Given the description of an element on the screen output the (x, y) to click on. 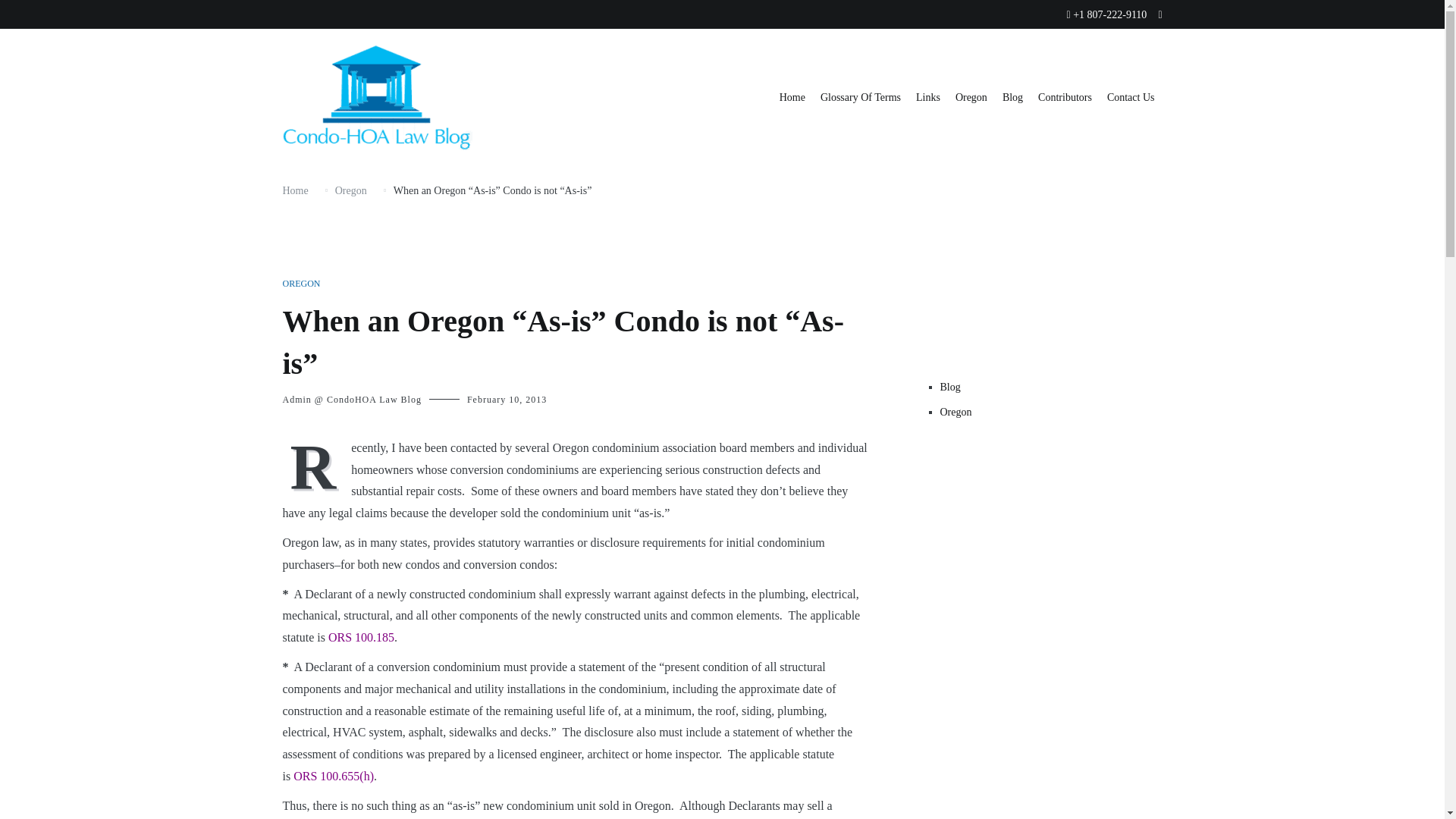
Home (294, 190)
Contributors (1065, 98)
Links (927, 98)
Oregon (971, 98)
Blog (1013, 98)
Contact Us (1130, 98)
Glossary Of Terms (861, 98)
Oregon (350, 190)
Oregon (1050, 412)
OREGON (301, 283)
Home (791, 98)
R (316, 465)
February 10, 2013 (507, 398)
Blog (1050, 387)
